Given the description of an element on the screen output the (x, y) to click on. 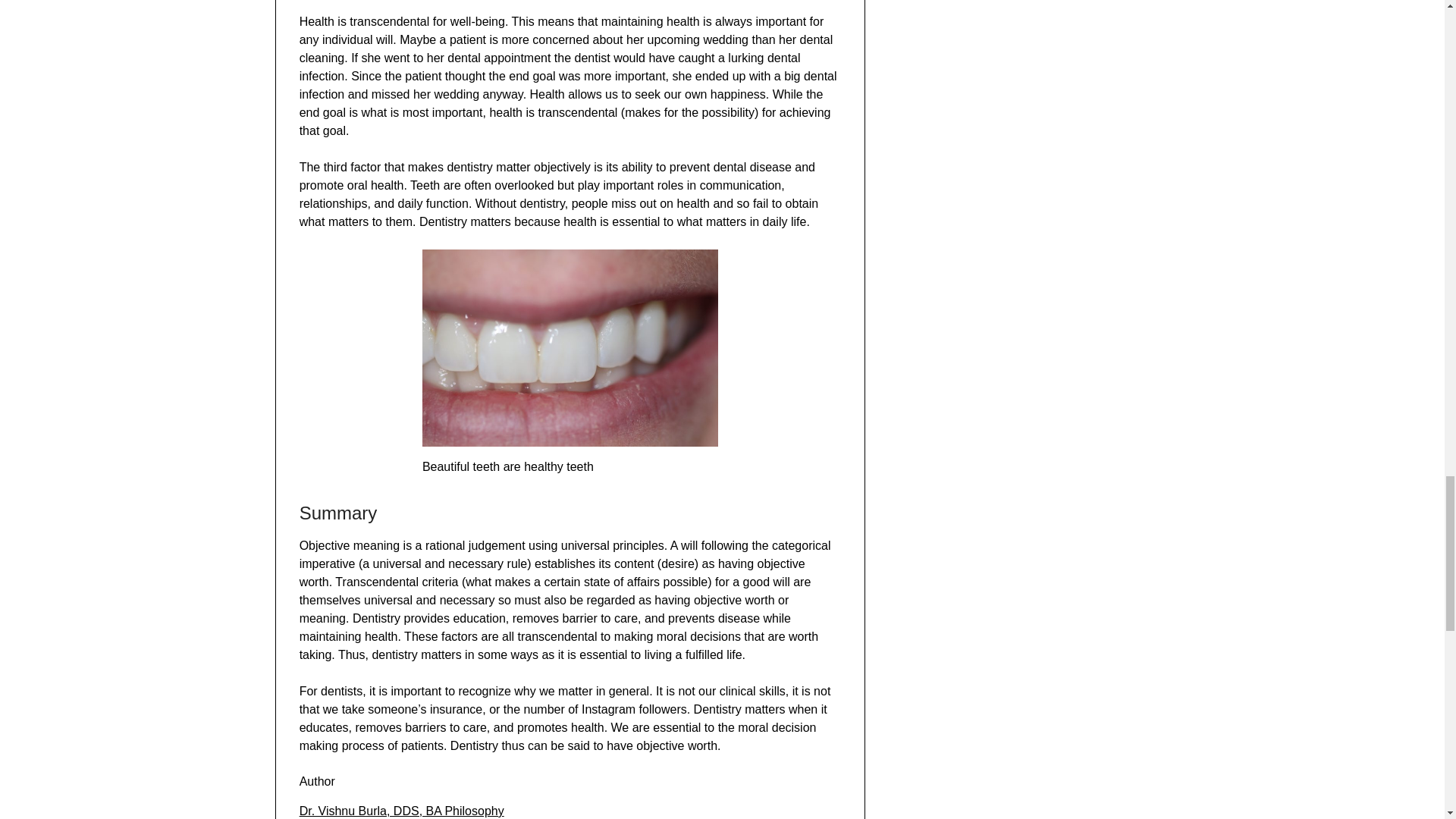
Dr. Vishnu Burla, DDS, BA Philosophy (401, 810)
